Given the description of an element on the screen output the (x, y) to click on. 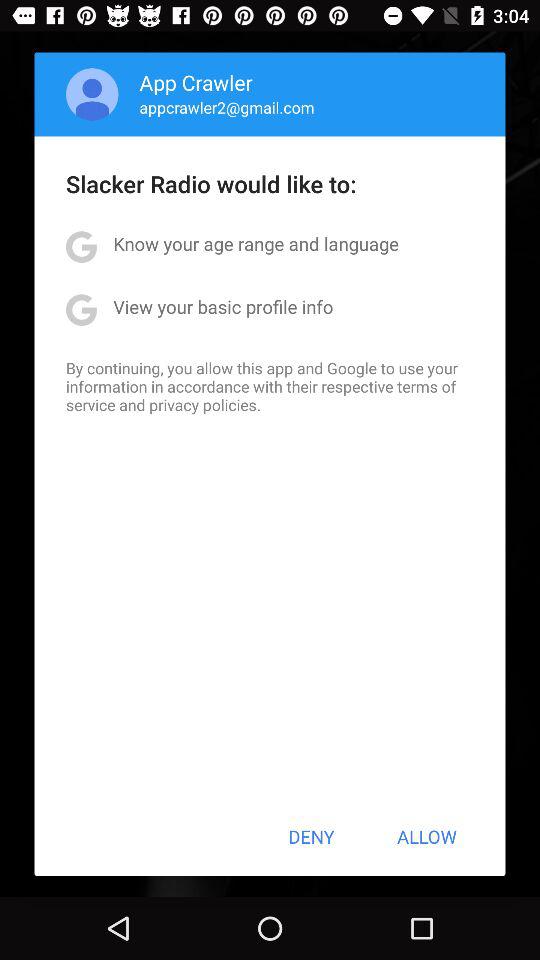
swipe to the deny button (311, 836)
